Given the description of an element on the screen output the (x, y) to click on. 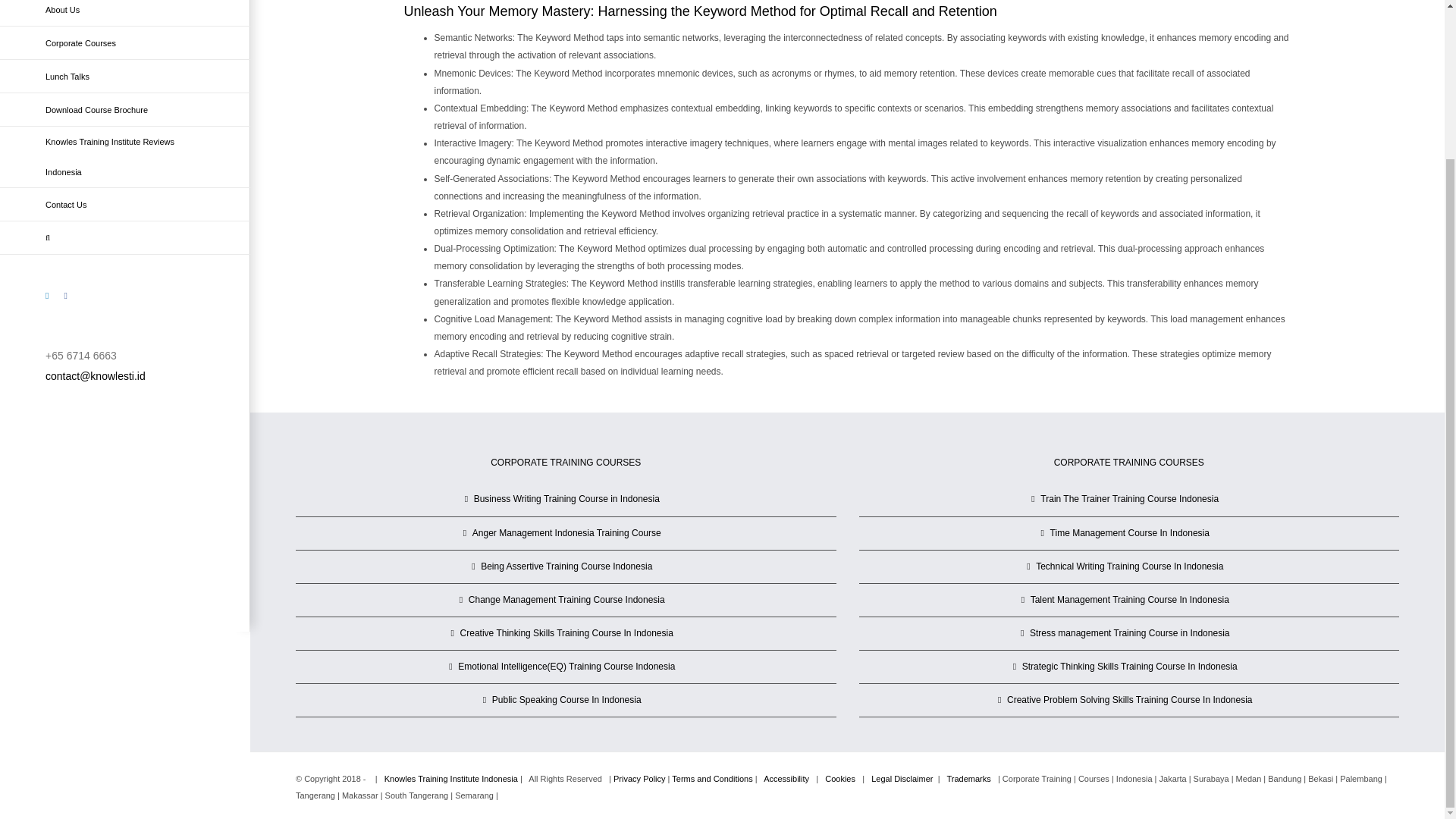
Creative Thinking Skills Training Course In Indonesia (566, 633)
Anger Management Indonesia Training Course (566, 533)
Corporate Courses (125, 42)
Change Management Training Course Indonesia (566, 600)
Strategic Thinking Skills Training Course In Indonesia (1129, 666)
Business Writing Training Course in Indonesia (566, 498)
Being Assertive Training Course Indonesia (566, 566)
Time Management Course In Indonesia (1129, 533)
Train The Trainer Training Course Indonesia (1129, 498)
About Us (125, 13)
